Given the description of an element on the screen output the (x, y) to click on. 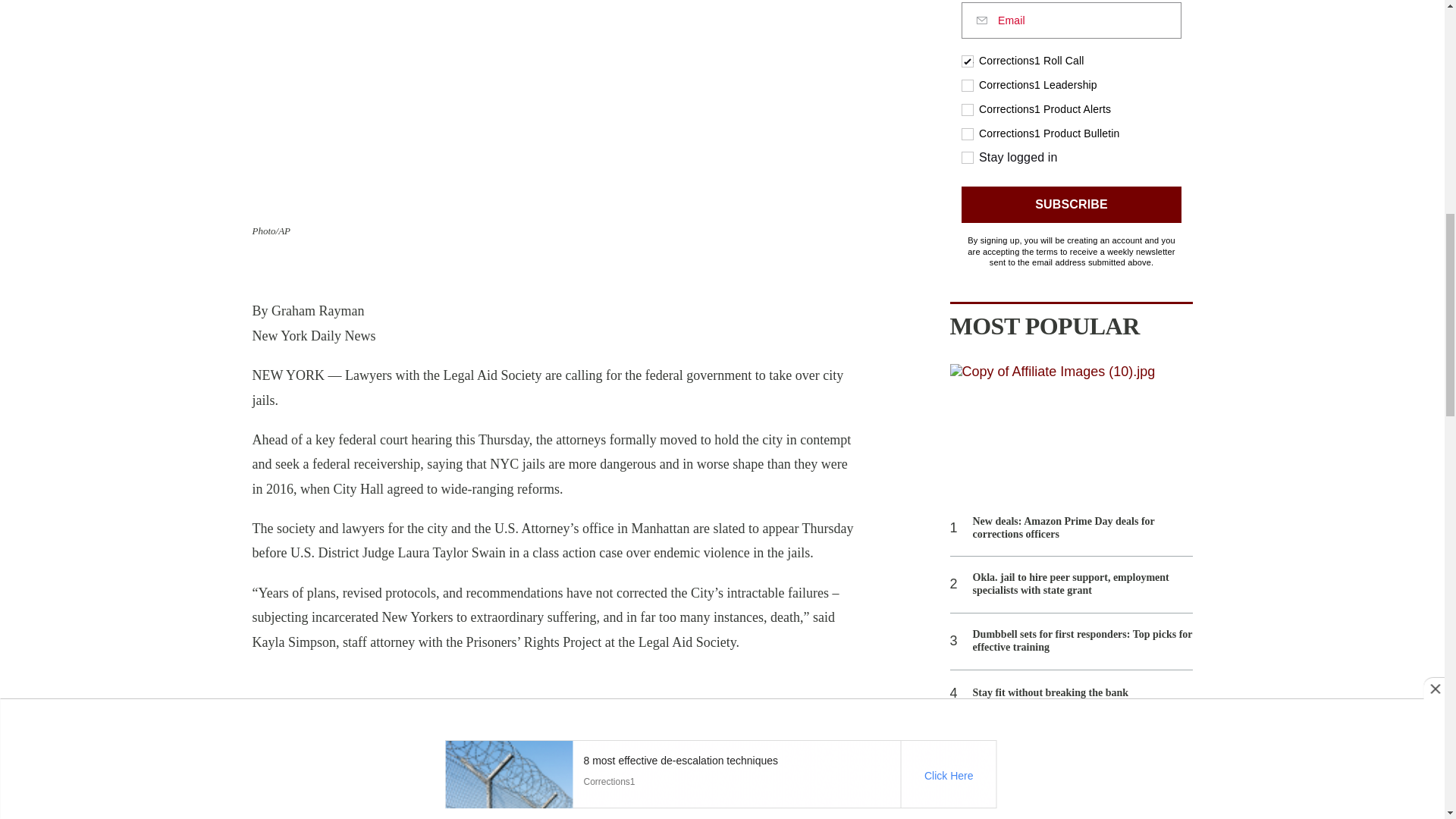
piano-id-sjPt0 (1070, 134)
